Given the description of an element on the screen output the (x, y) to click on. 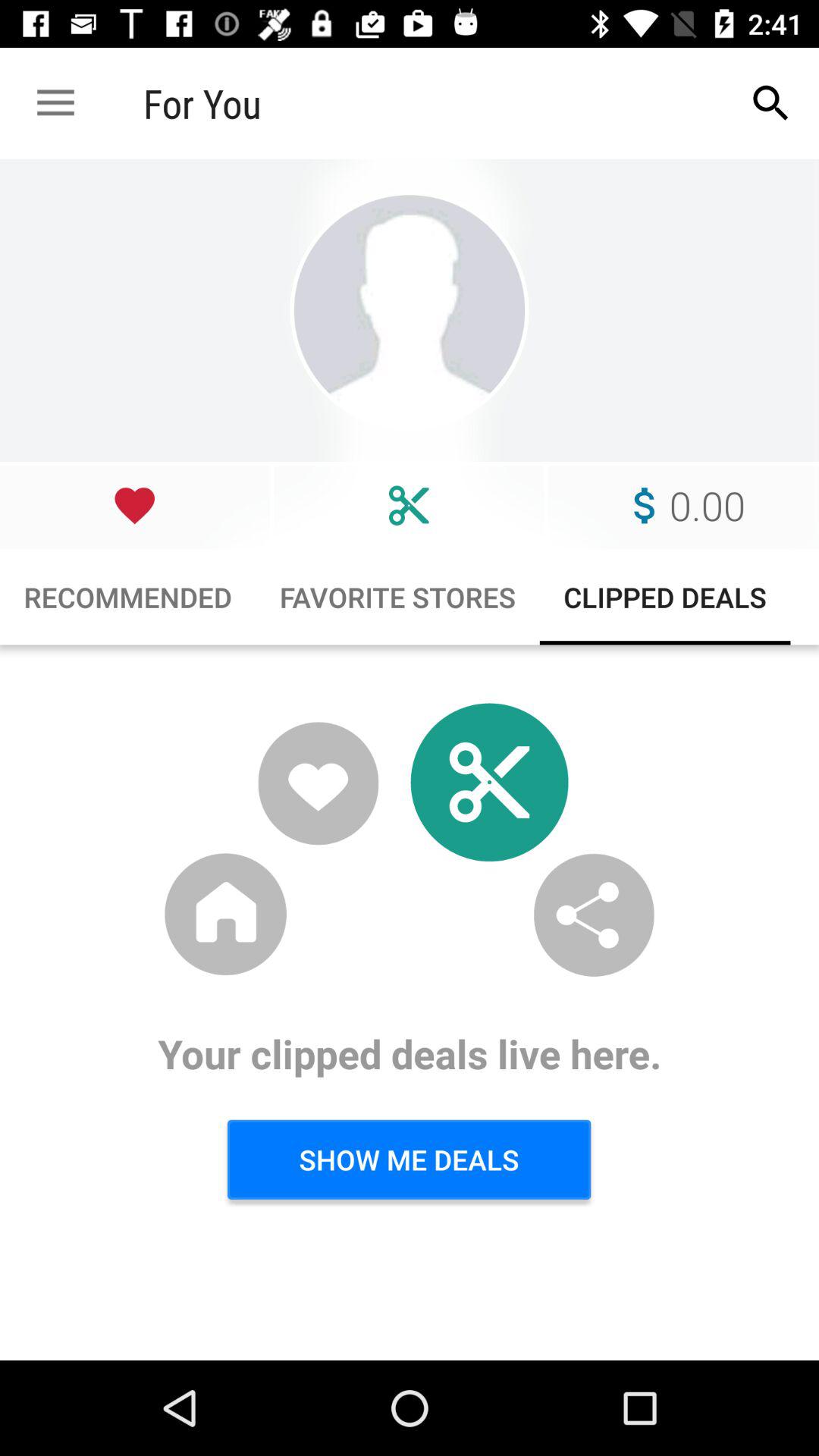
press the icon next to for you (55, 103)
